Given the description of an element on the screen output the (x, y) to click on. 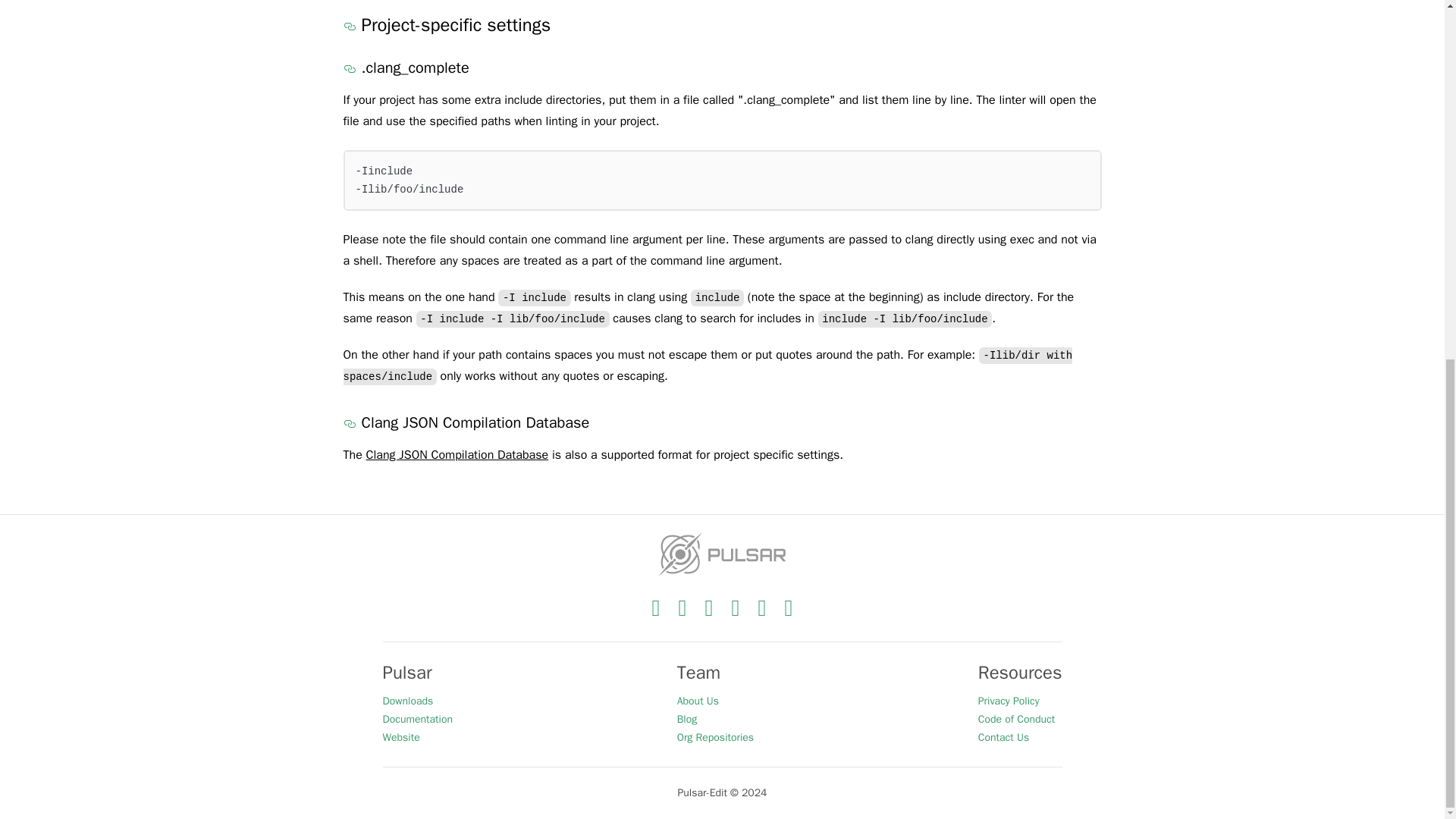
Downloads (416, 701)
Clang JSON Compilation Database (457, 455)
Website (416, 737)
Documentation (416, 719)
